Given the description of an element on the screen output the (x, y) to click on. 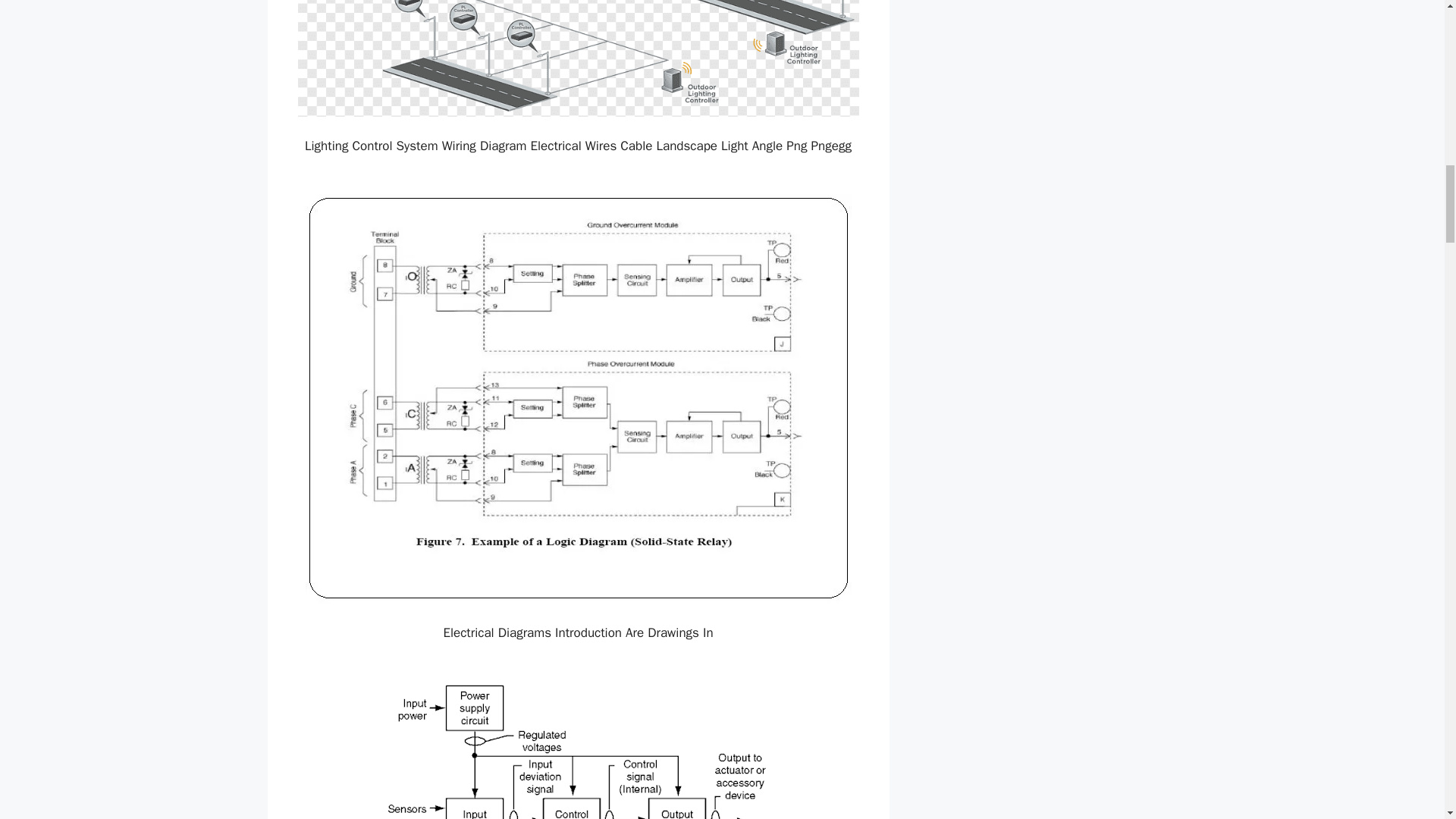
Electronic Control Systems Basic Energy Engineering (577, 749)
